Given the description of an element on the screen output the (x, y) to click on. 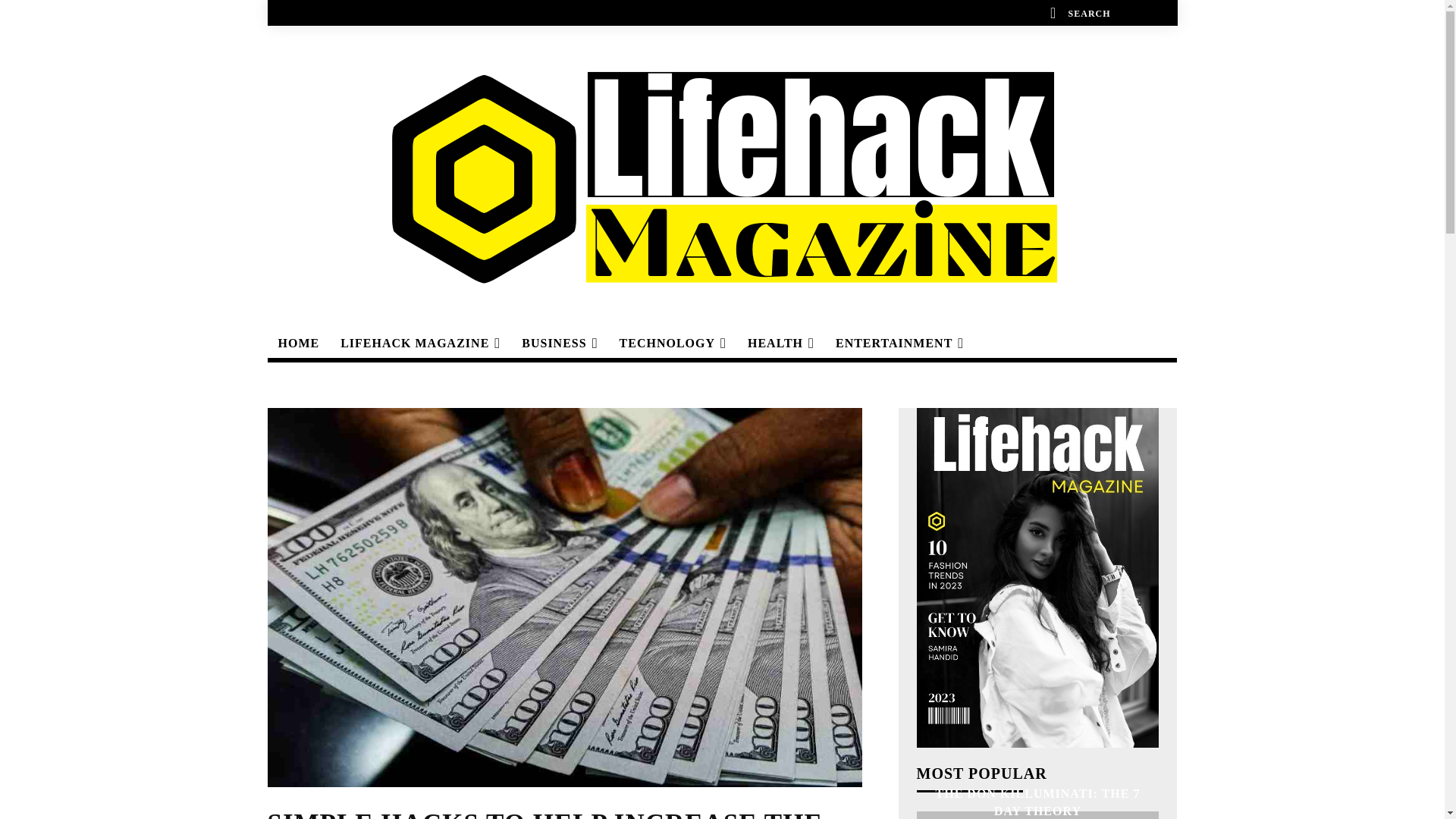
PRIVACY (436, 12)
ABOUT (303, 12)
LOGIN (1144, 12)
LIFEHACK MAGAZINE (420, 343)
DISCLAIMER (513, 12)
SEARCH (1077, 12)
CONTACT (367, 12)
HOME (298, 343)
